Given the description of an element on the screen output the (x, y) to click on. 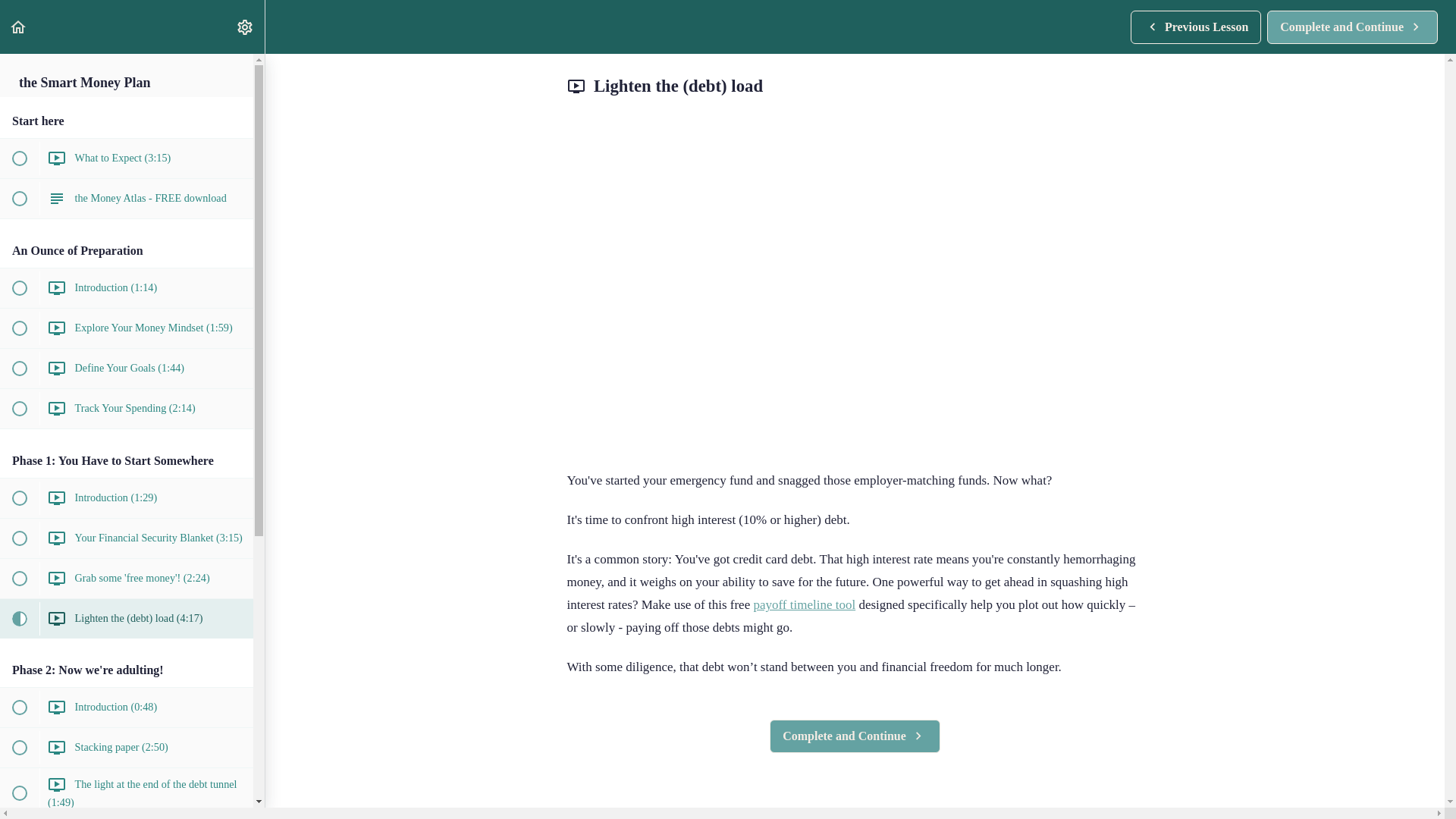
payoff timeline tool (804, 604)
Settings Menu (244, 27)
Back to course curriculum (17, 27)
  Previous Lesson (1352, 27)
Video Player (1195, 27)
  the Money Atlas - FREE download (855, 735)
